Given the description of an element on the screen output the (x, y) to click on. 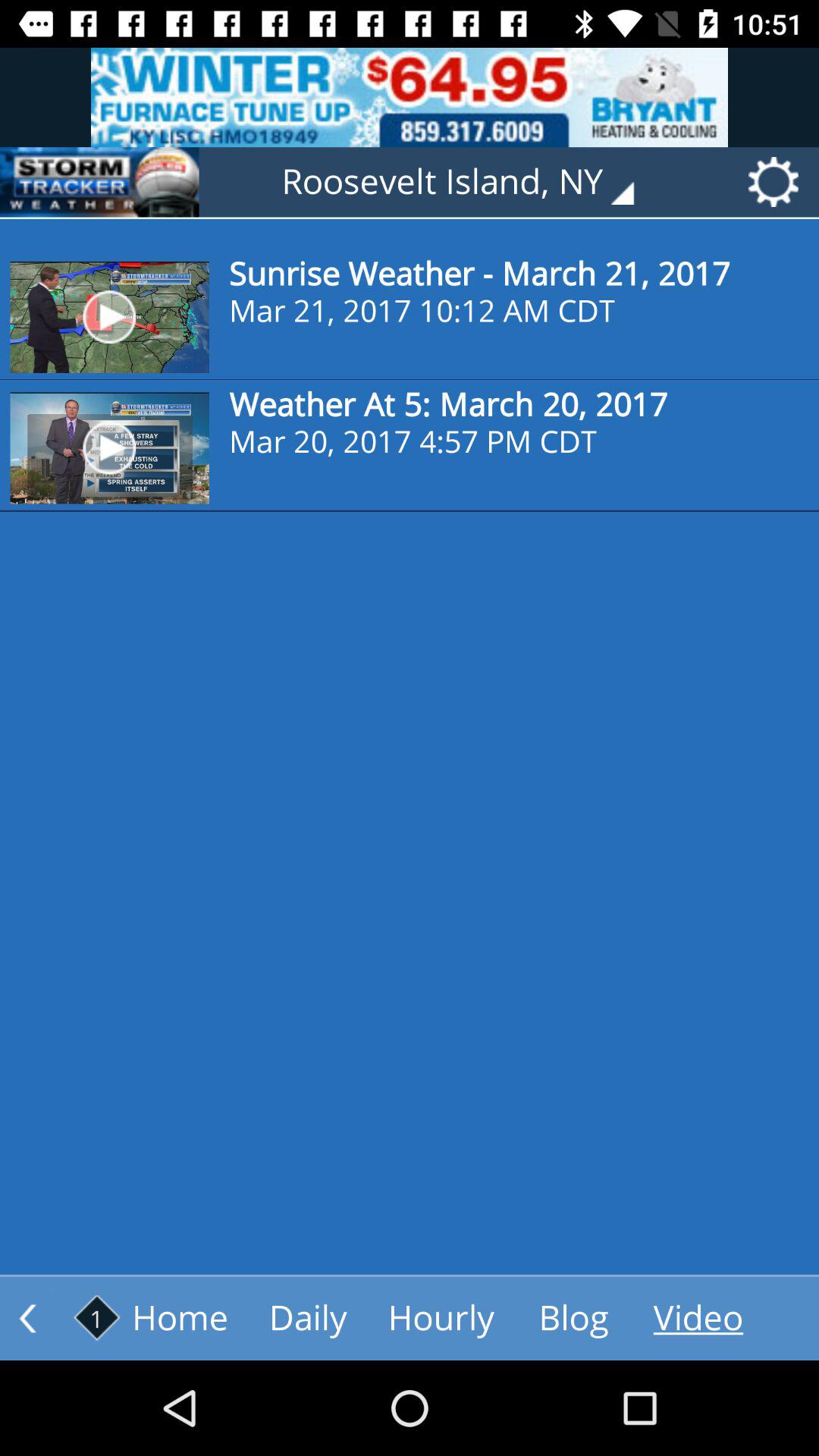
storm tracker weather (99, 182)
